Given the description of an element on the screen output the (x, y) to click on. 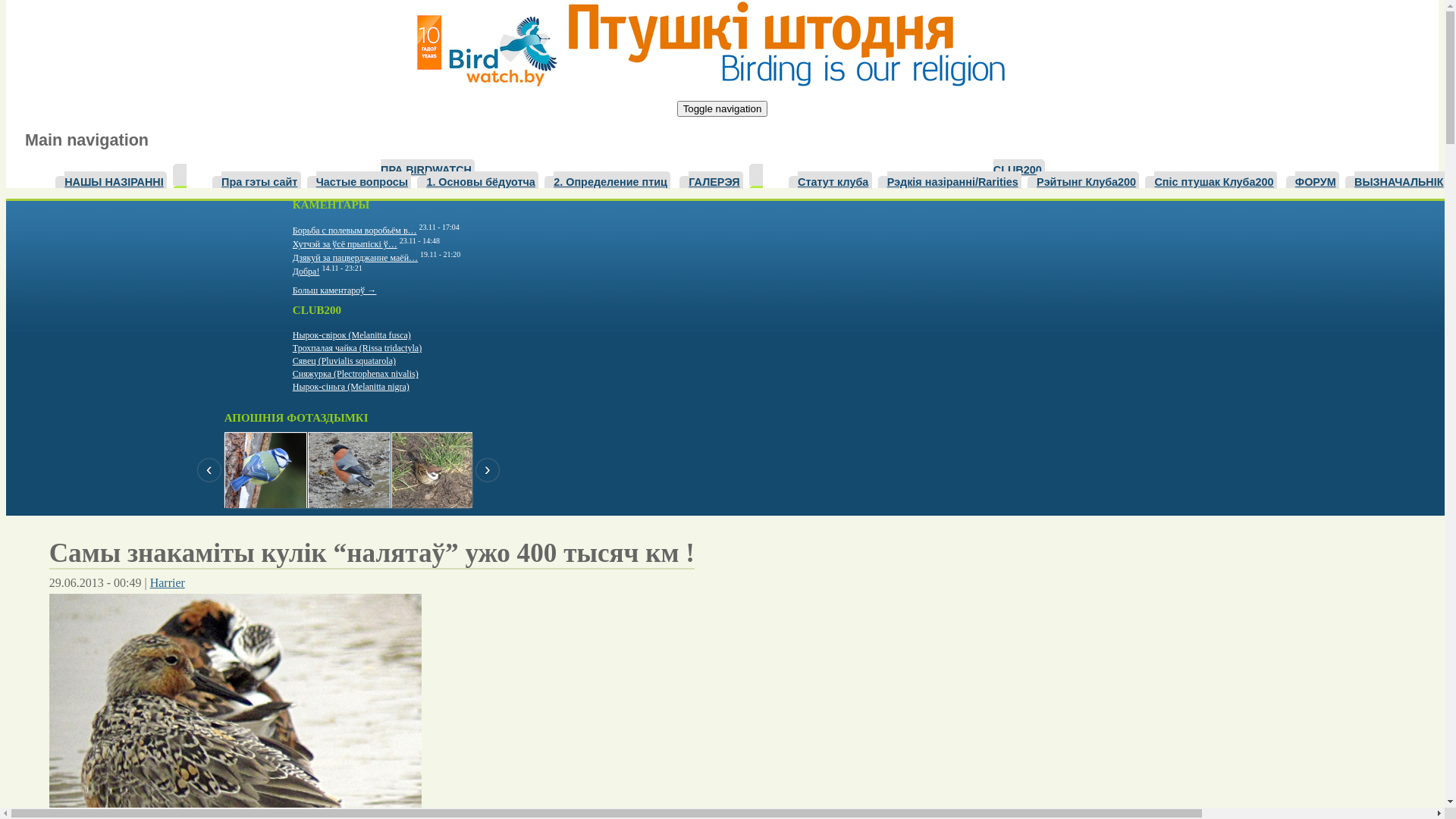
CLUB200 Element type: text (1018, 167)
Harrier Element type: text (167, 582)
Toggle navigation Element type: text (722, 108)
